Given the description of an element on the screen output the (x, y) to click on. 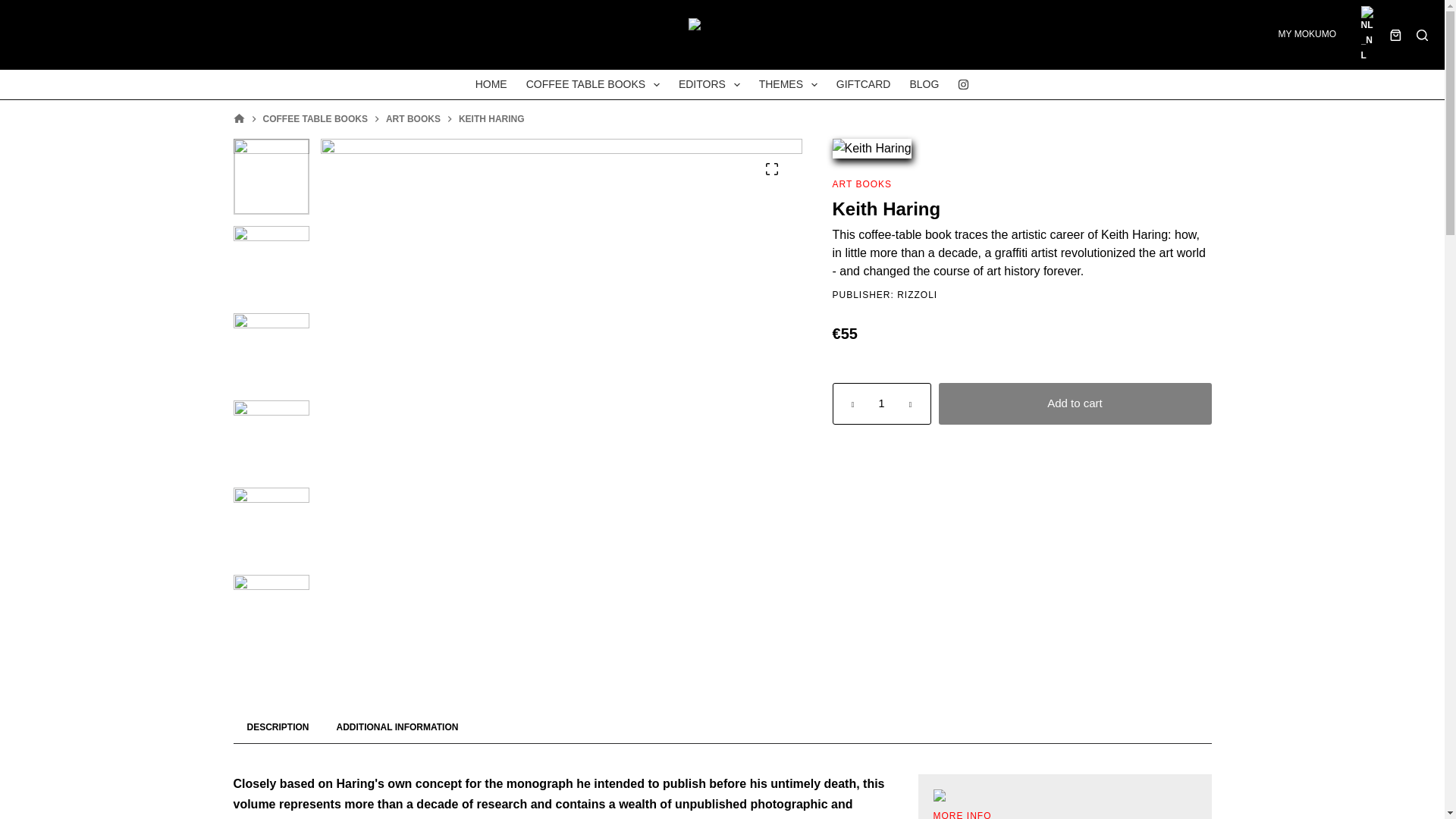
Rizzoli-Keith-Haring (270, 176)
Rizzoli-Keith Herring4 (270, 612)
Rizzoli-Keith Herring1 (270, 525)
Rizzoli-Keith Herring3 (270, 350)
Rizzoli-Keith Herring5 (270, 264)
1 (881, 404)
Rizzoli-Keith Herring2 (270, 437)
Skip to content (15, 7)
